Given the description of an element on the screen output the (x, y) to click on. 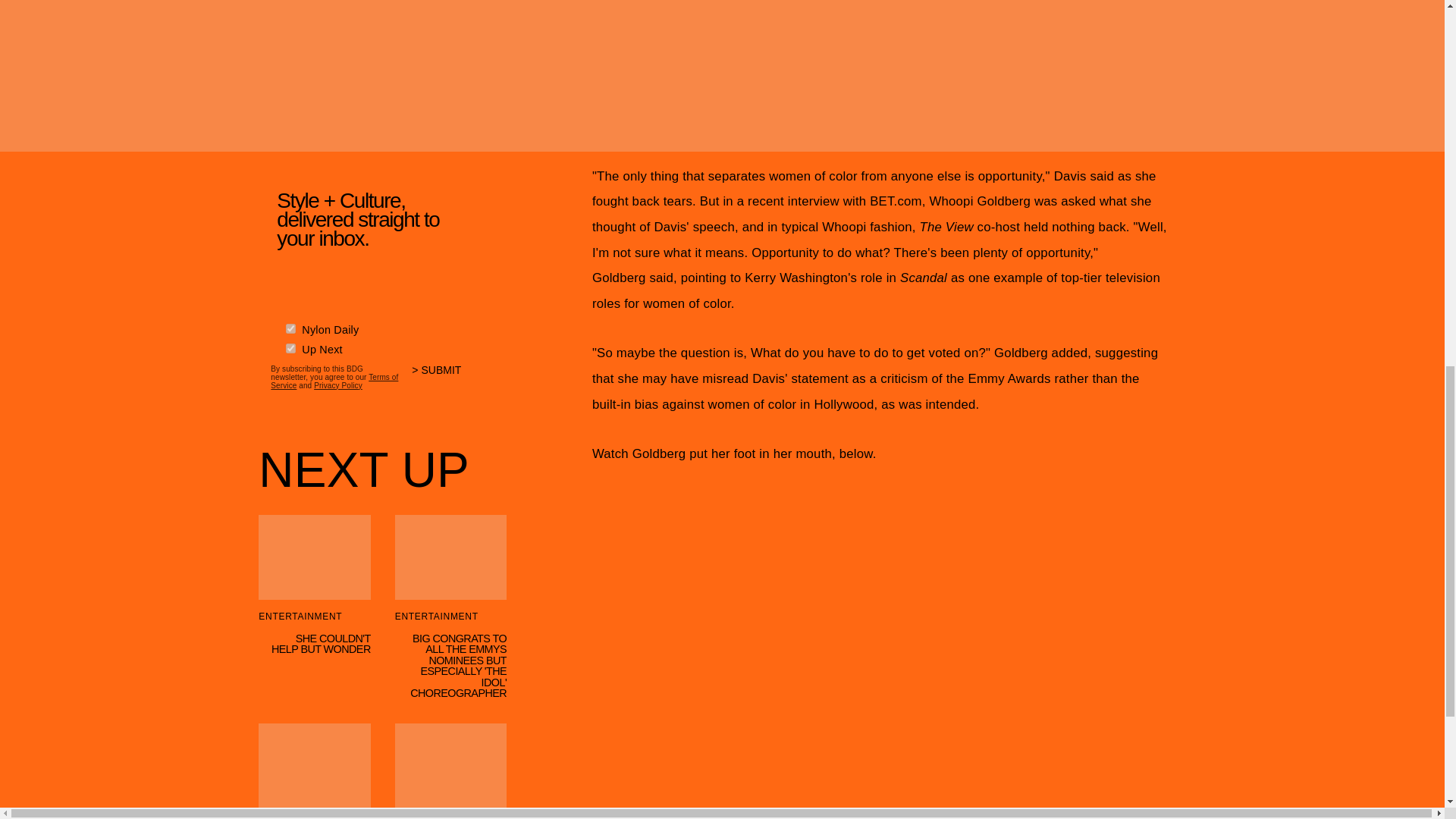
SUBMIT (443, 374)
Terms of Service (333, 378)
Privacy Policy (338, 383)
